Given the description of an element on the screen output the (x, y) to click on. 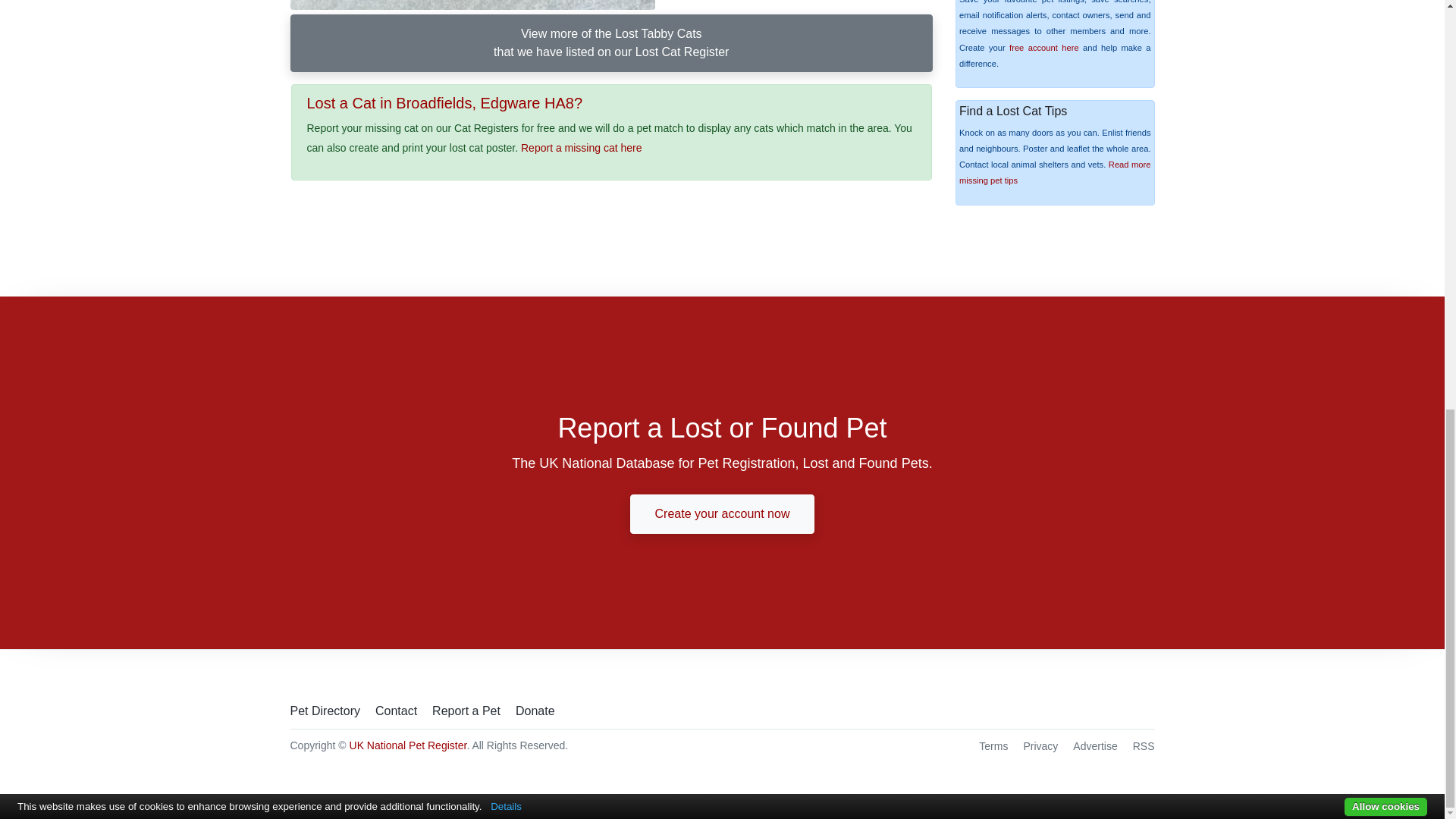
Missing Cat Tabbys in Broadfields, Edgware (472, 4)
Report a missing cat here (581, 147)
